Given the description of an element on the screen output the (x, y) to click on. 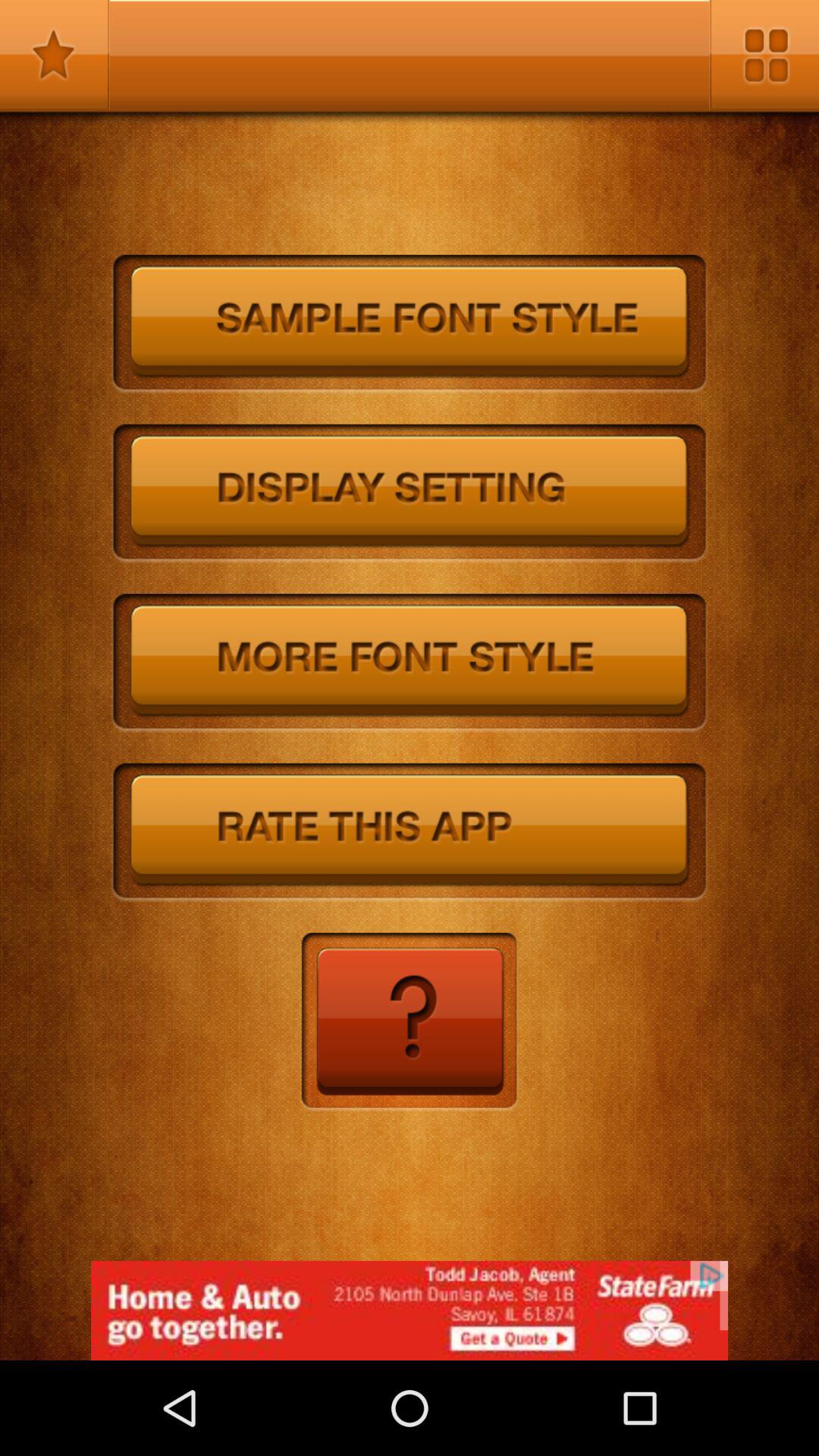
go to favorites (54, 54)
